Given the description of an element on the screen output the (x, y) to click on. 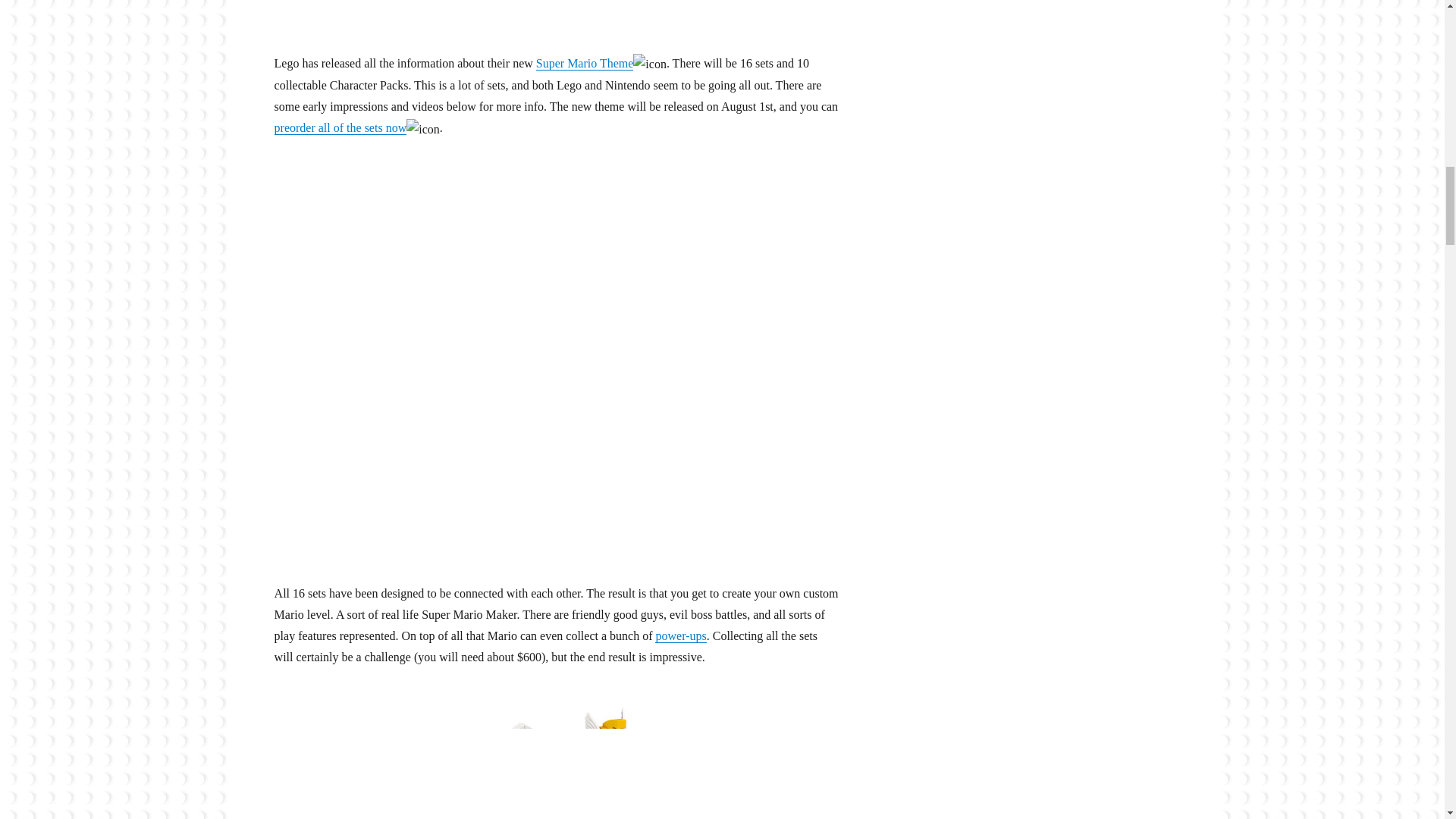
power-ups (680, 635)
Super Mario Theme (584, 62)
preorder all of the sets now (341, 127)
